Given the description of an element on the screen output the (x, y) to click on. 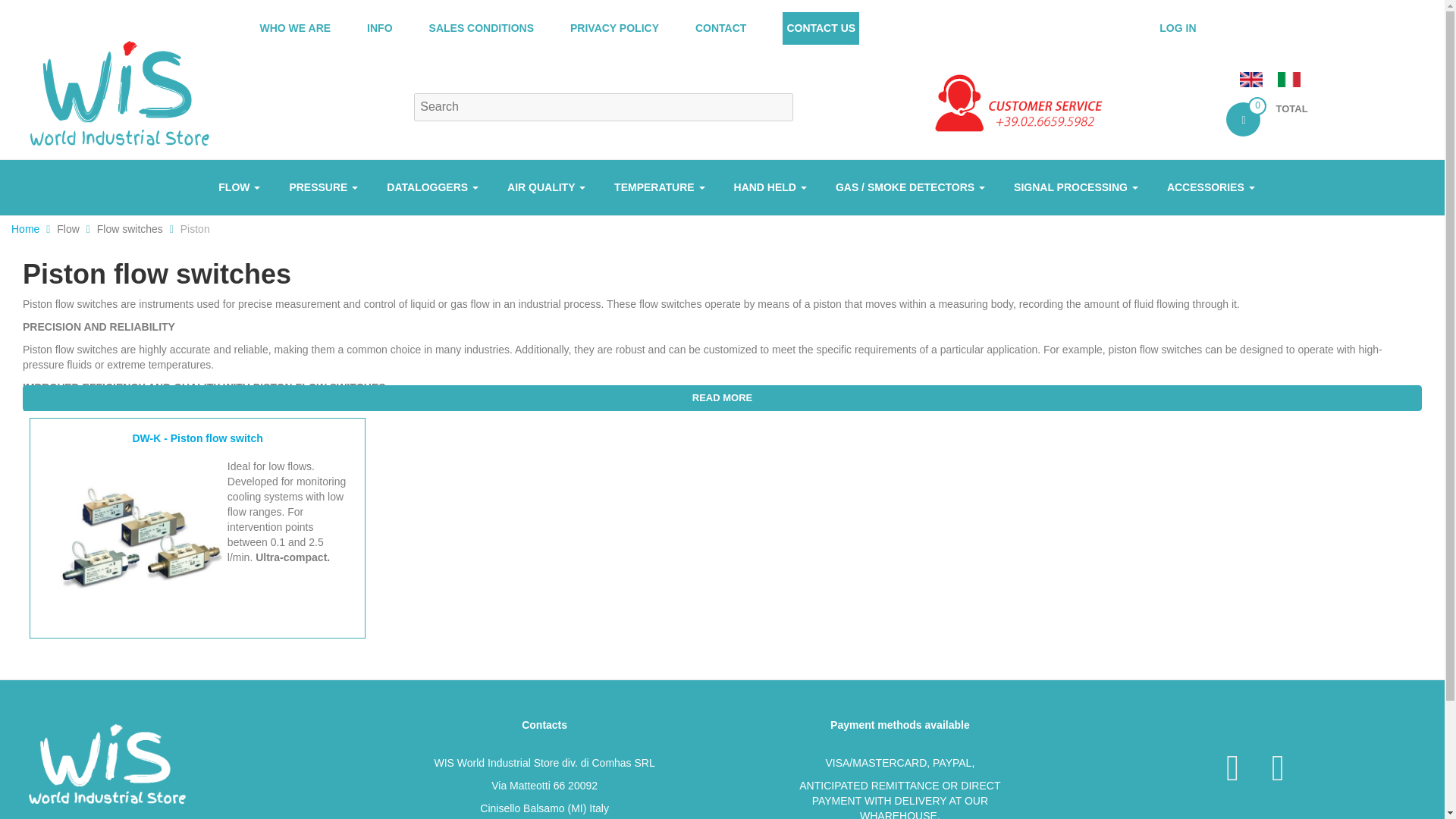
PRIVACY POLICY (614, 28)
PRESSURE (323, 187)
CONTACT (720, 28)
Home (117, 92)
WHO WE ARE (294, 28)
Italiano (1289, 79)
LOG IN (1176, 28)
0 (1242, 119)
English (1251, 79)
